Given the description of an element on the screen output the (x, y) to click on. 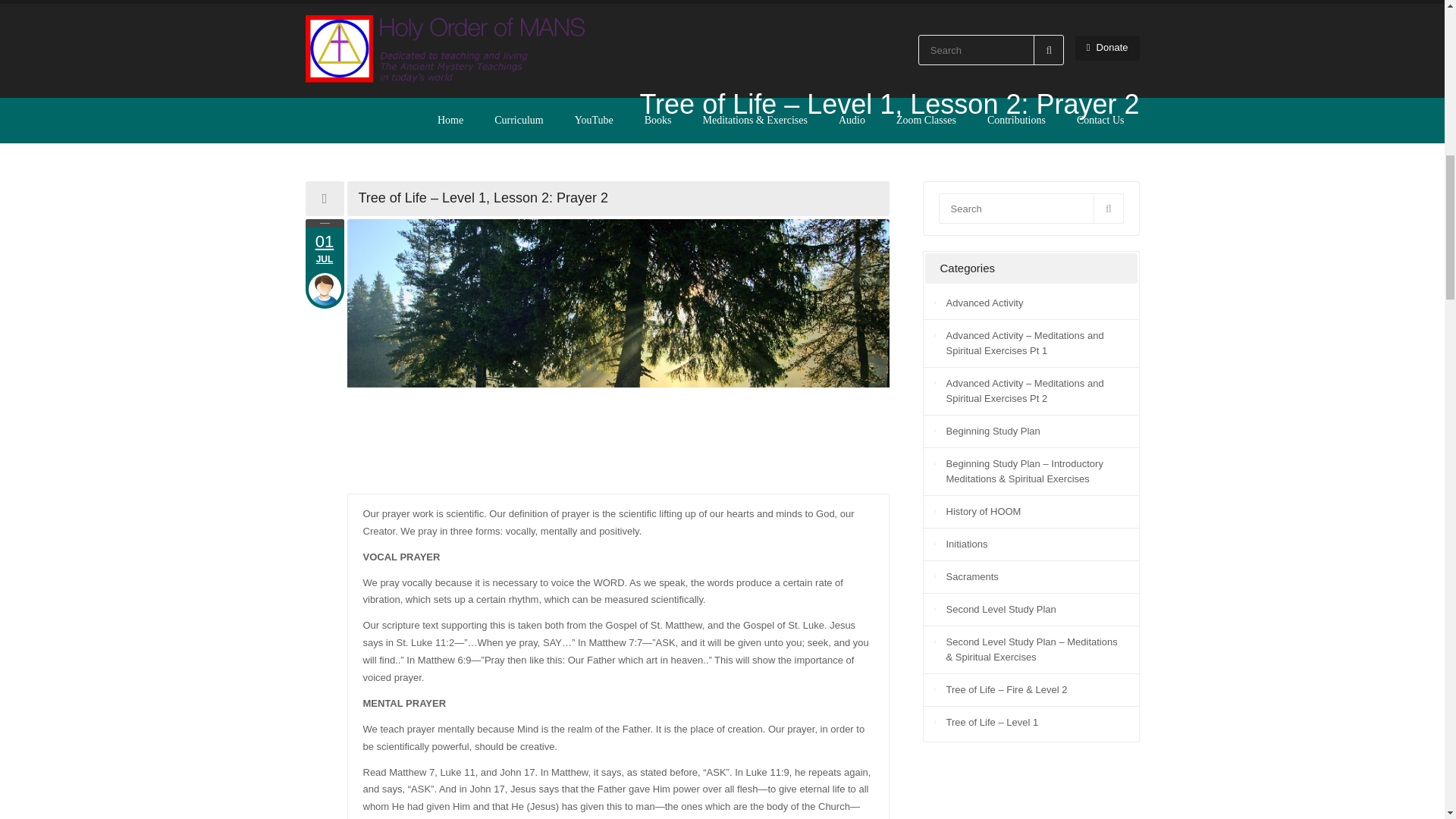
Twitter (313, 120)
Facebook (336, 120)
Contact Us (1100, 120)
Curriculum (323, 250)
Search (519, 120)
Beginning Study Plan (1031, 208)
Sacraments (993, 430)
YouTube (972, 576)
Initiations (359, 120)
